Given the description of an element on the screen output the (x, y) to click on. 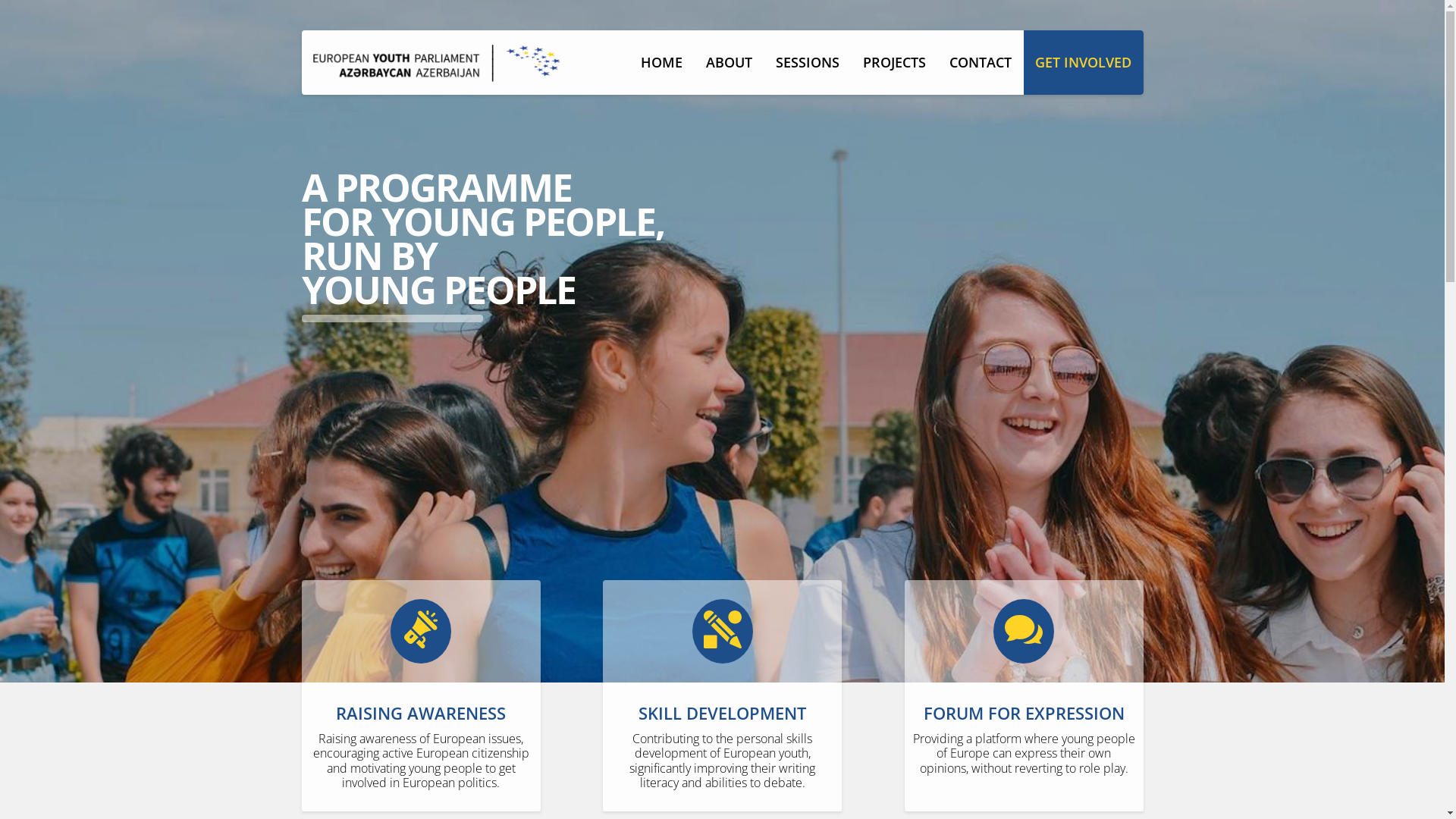
PROJECTS Element type: text (893, 62)
GET INVOLVED Element type: text (1083, 62)
ABOUT Element type: text (729, 62)
HOME Element type: text (661, 62)
CONTACT Element type: text (979, 62)
SESSIONS Element type: text (807, 62)
